Given the description of an element on the screen output the (x, y) to click on. 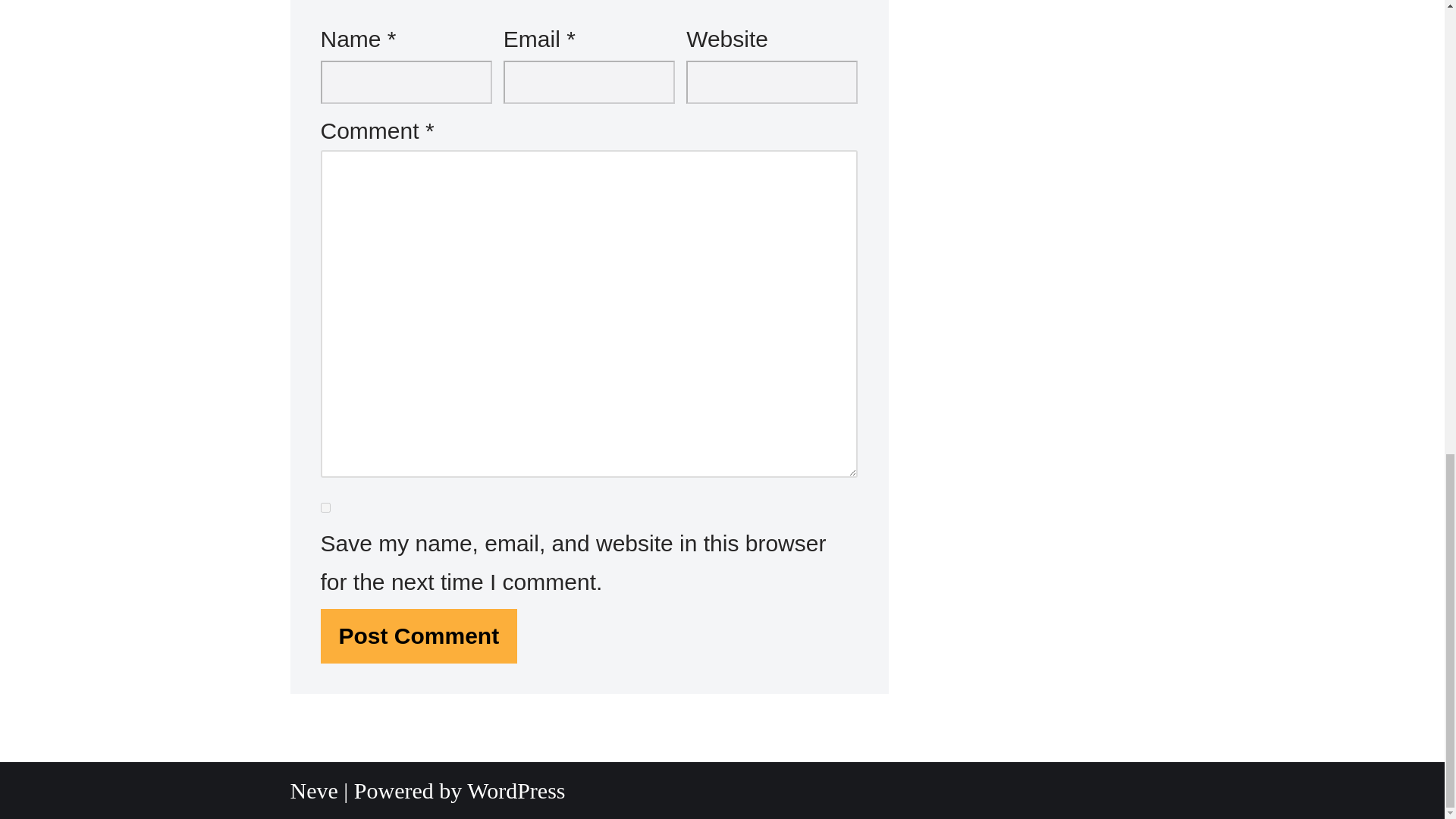
Post Comment (418, 636)
Neve (313, 790)
yes (325, 507)
WordPress (515, 790)
Post Comment (418, 636)
